Given the description of an element on the screen output the (x, y) to click on. 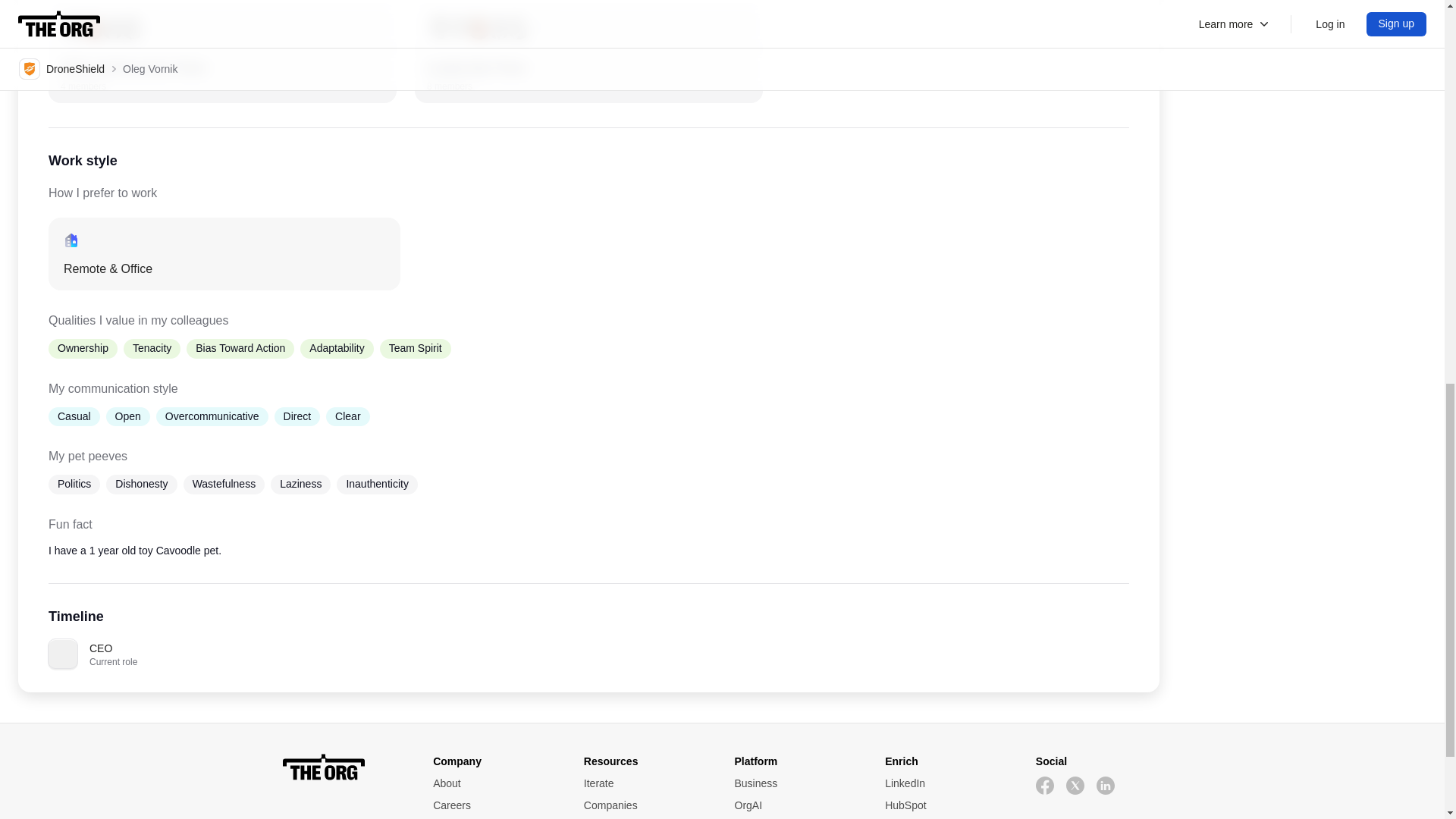
OrgAI (222, 53)
The Org logo (796, 805)
Careers (345, 767)
OrgAI (495, 805)
Companies (796, 805)
HubSpot (646, 805)
Business (948, 805)
LinkedIn (796, 783)
Careers (948, 783)
